Given the description of an element on the screen output the (x, y) to click on. 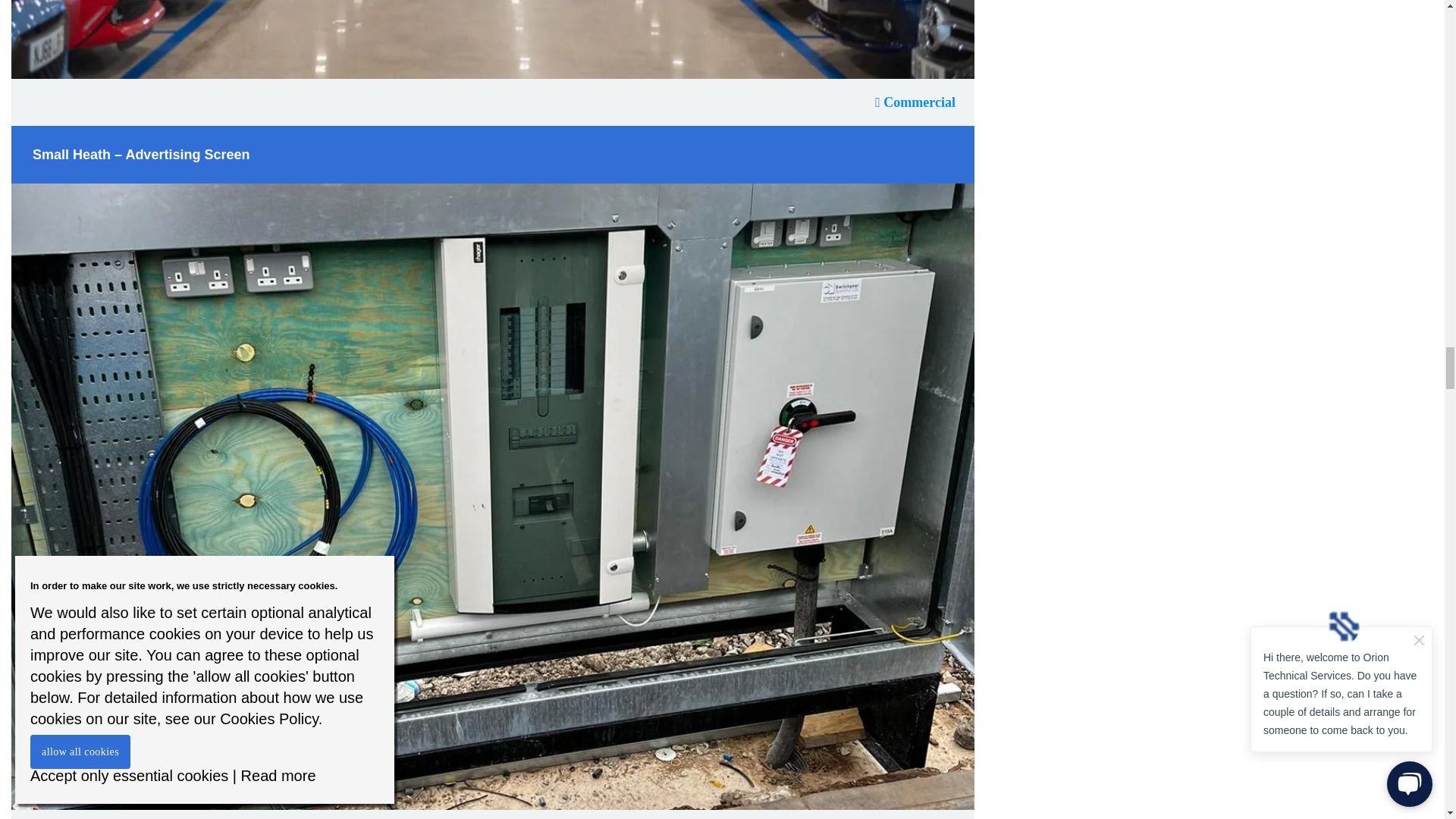
Commercial (915, 102)
